Given the description of an element on the screen output the (x, y) to click on. 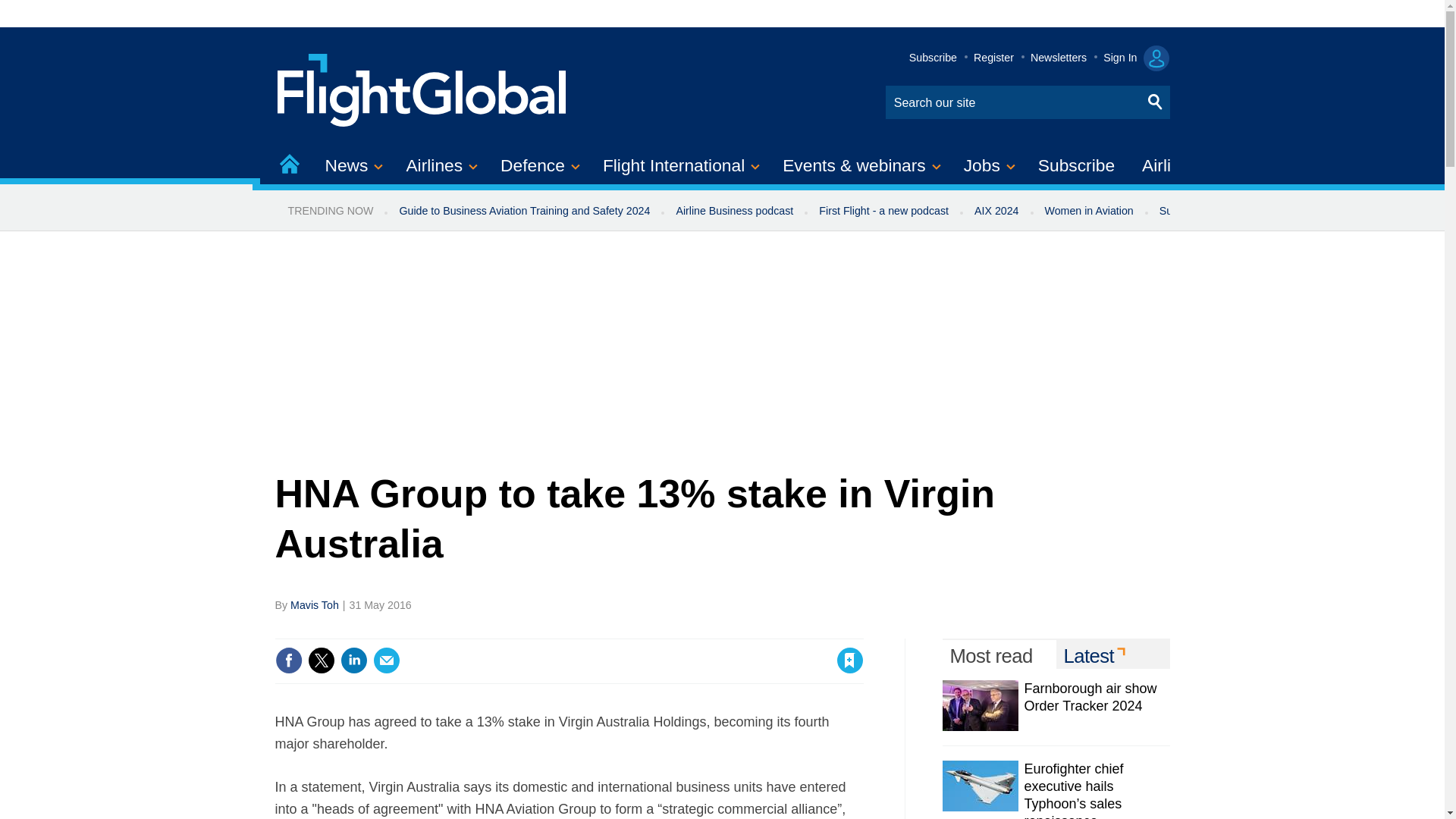
Share this on Facebook (288, 660)
Women in Aviation (1089, 210)
First Flight - a new podcast (883, 210)
Guide to Business Aviation Training and Safety 2024 (523, 210)
Email this article (386, 660)
Share this on Linked in (352, 660)
AIX 2024 (996, 210)
Sustainable Aviation newsletter (1234, 210)
Share this on Twitter (320, 660)
Airline Business podcast (734, 210)
Site name (422, 88)
